Given the description of an element on the screen output the (x, y) to click on. 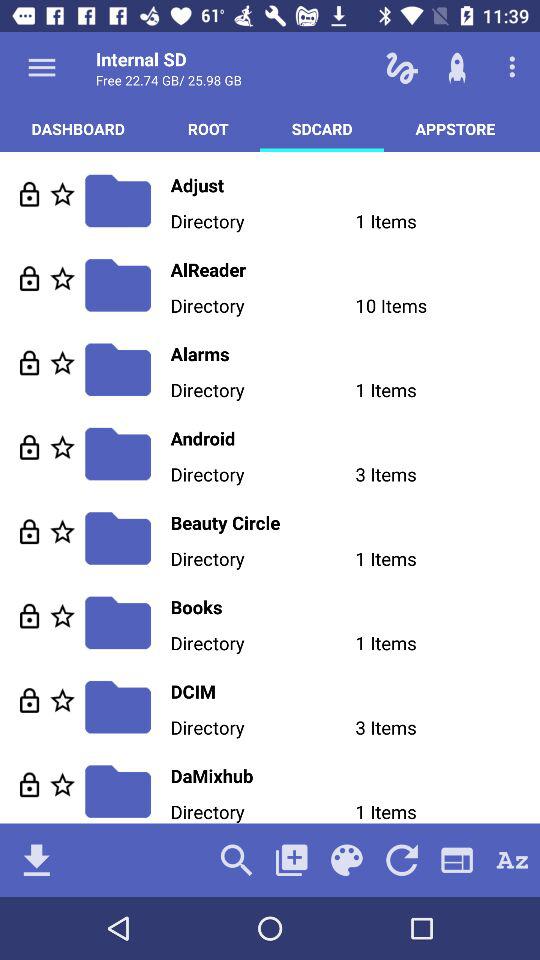
toggle favourite option (62, 700)
